Given the description of an element on the screen output the (x, y) to click on. 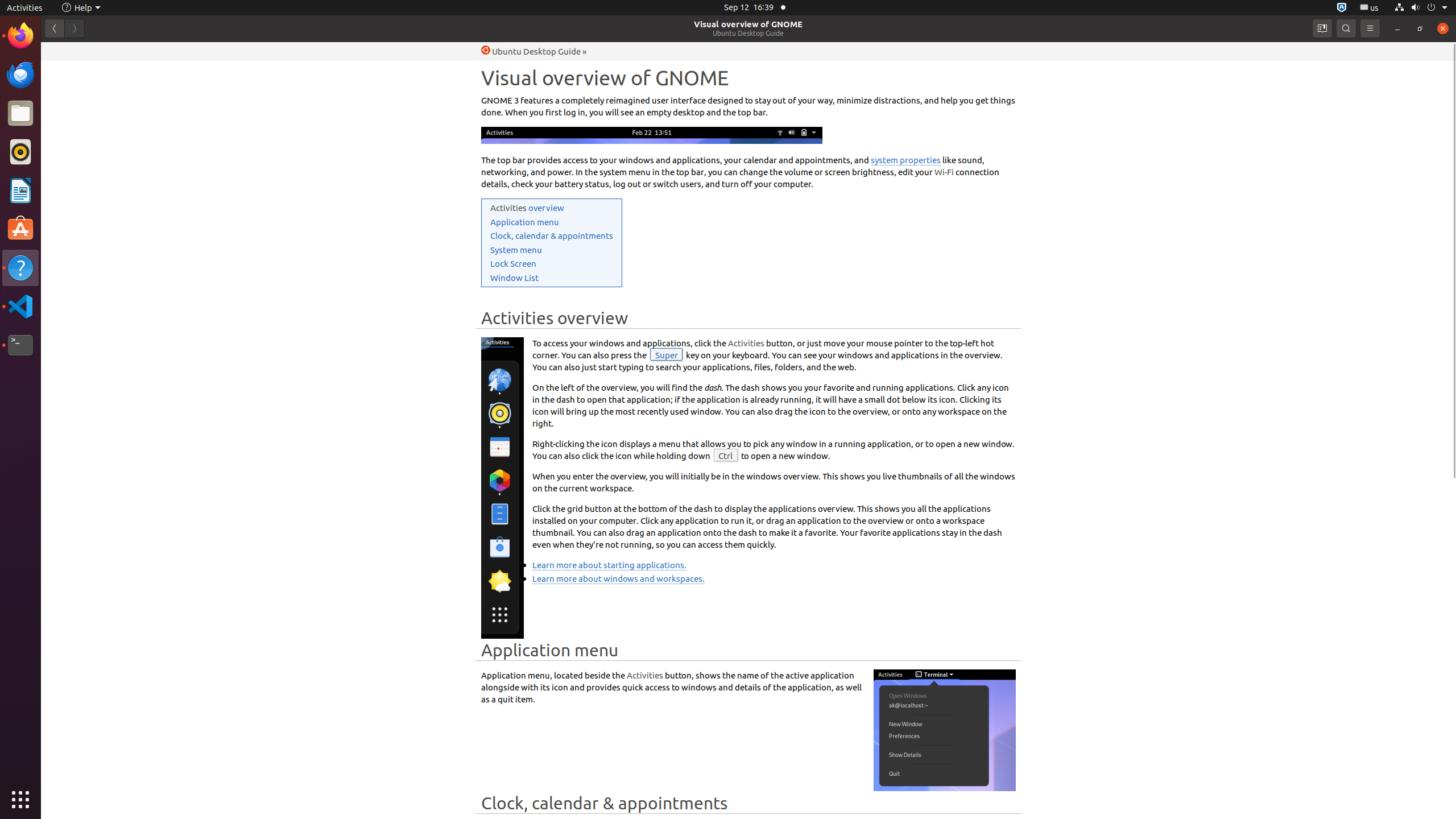
Super Element type: link (666, 353)
Terminal Element type: push-button (20, 344)
